Given the description of an element on the screen output the (x, y) to click on. 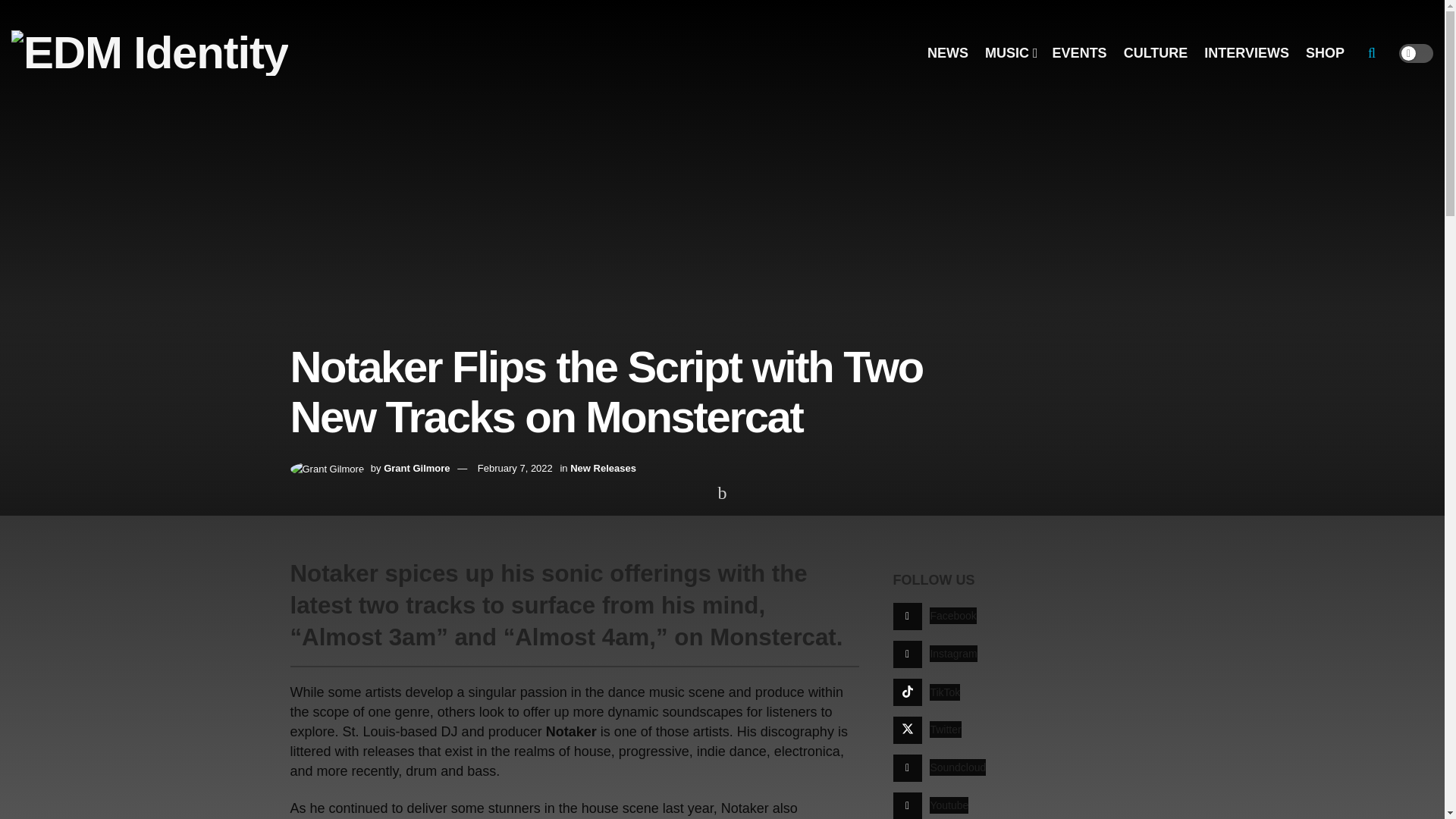
SHOP (1324, 53)
NEWS (947, 53)
CULTURE (1156, 53)
EVENTS (1079, 53)
MUSIC (1010, 53)
Grant Gilmore (416, 468)
New Releases (603, 468)
February 7, 2022 (515, 468)
INTERVIEWS (1246, 53)
